Given the description of an element on the screen output the (x, y) to click on. 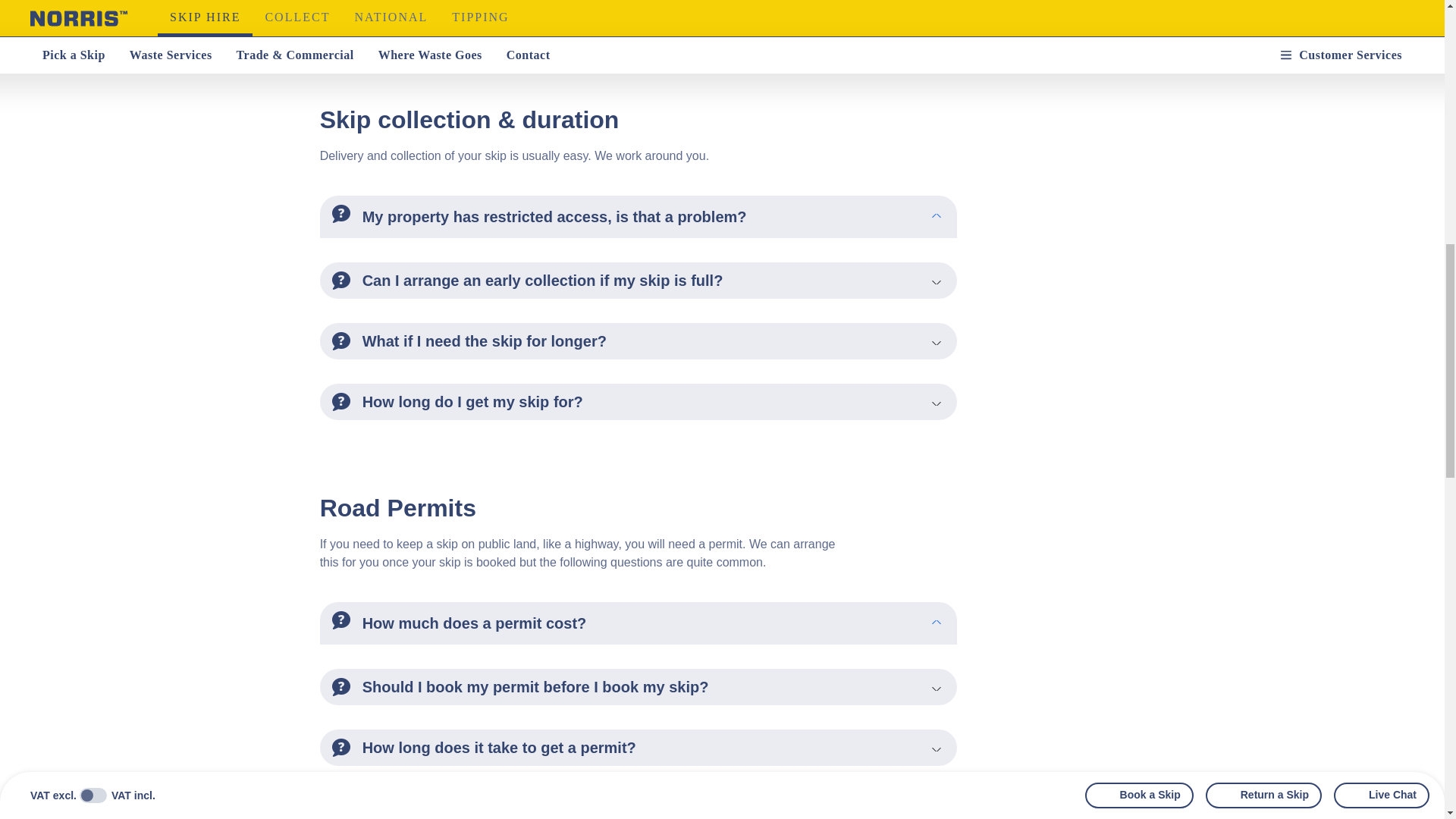
image (340, 213)
image (340, 13)
